Given the description of an element on the screen output the (x, y) to click on. 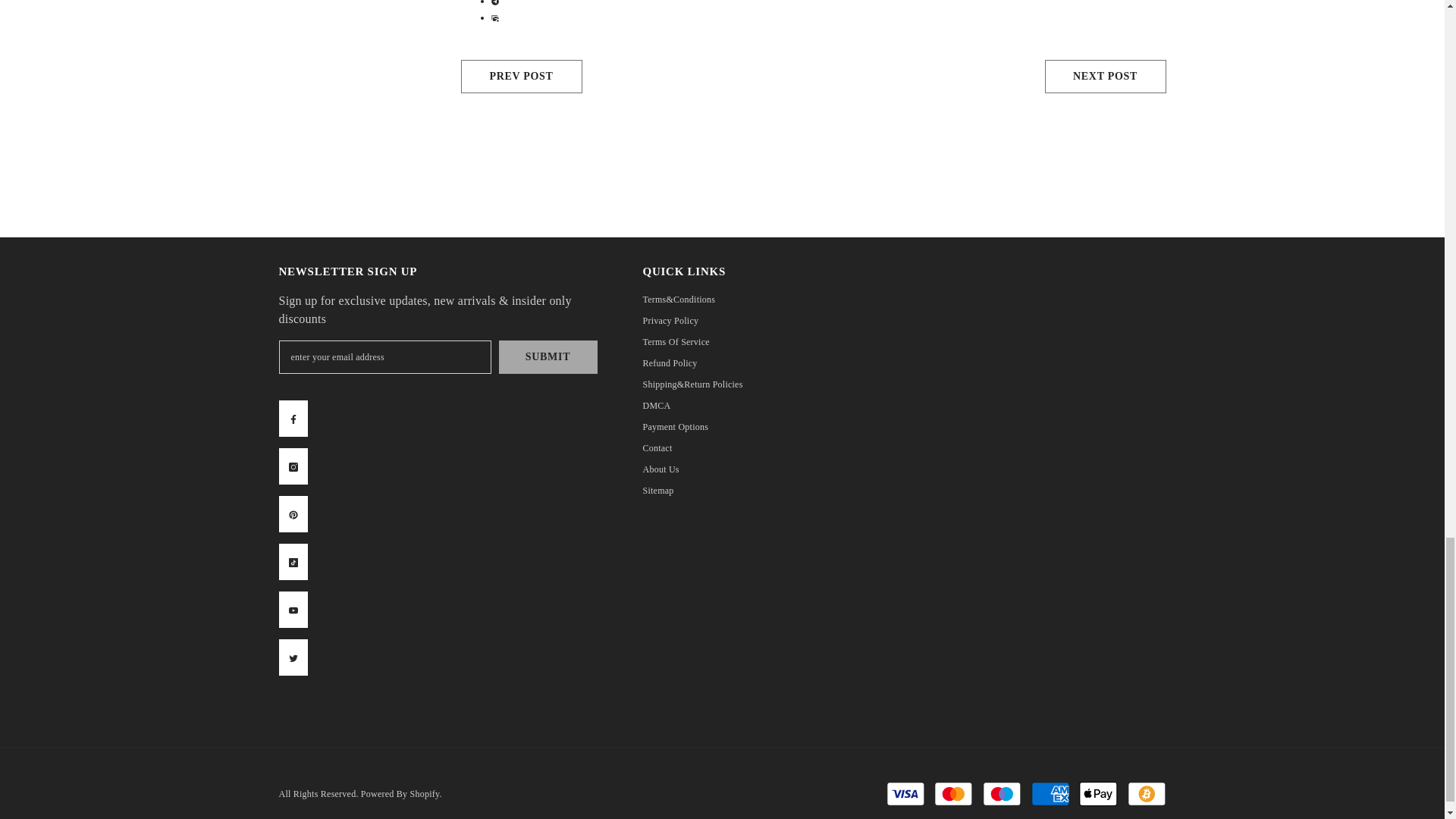
Visa (905, 793)
